Given the description of an element on the screen output the (x, y) to click on. 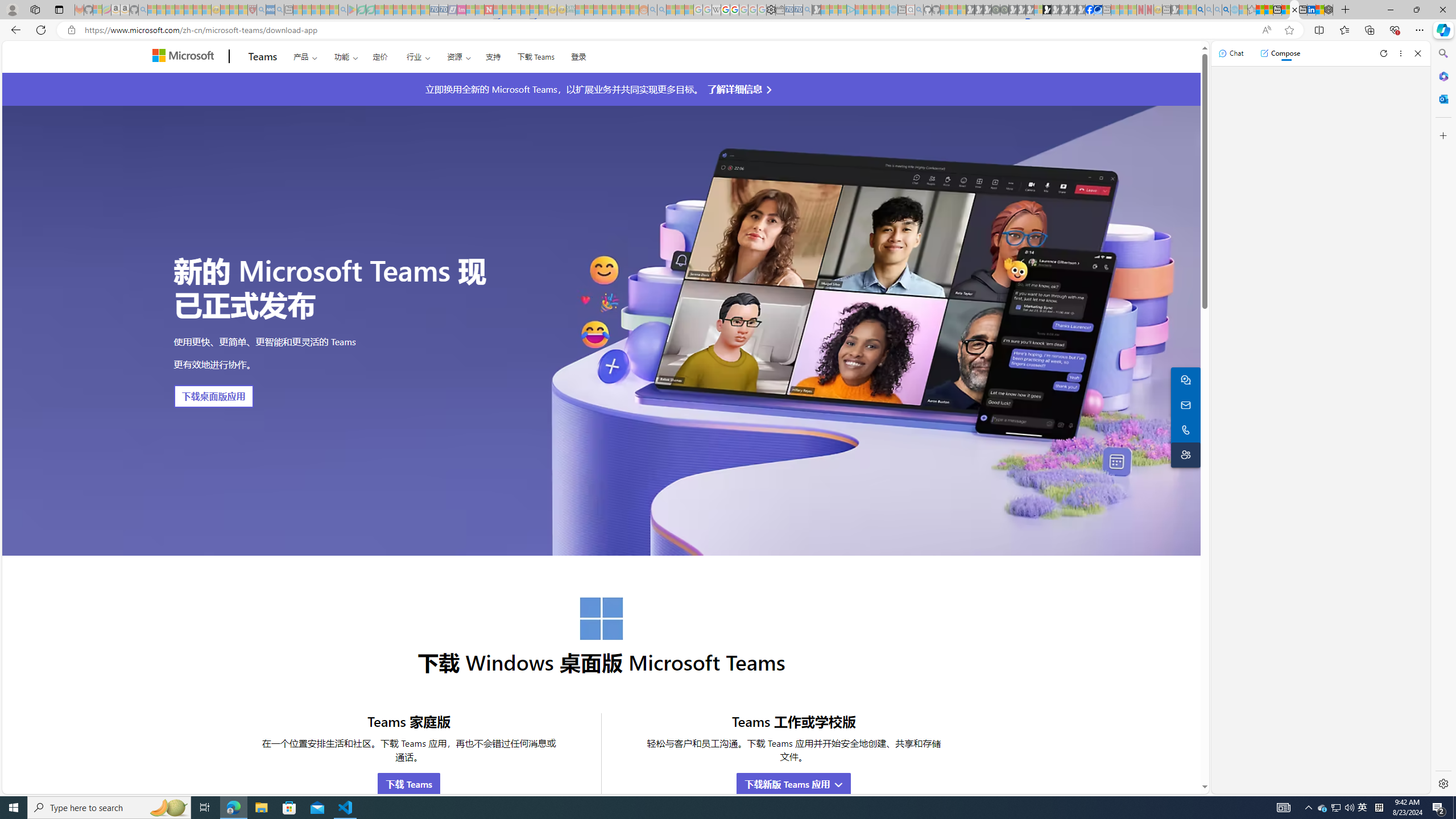
Target page - Wikipedia - Sleeping (716, 9)
Teams (262, 56)
